Given the description of an element on the screen output the (x, y) to click on. 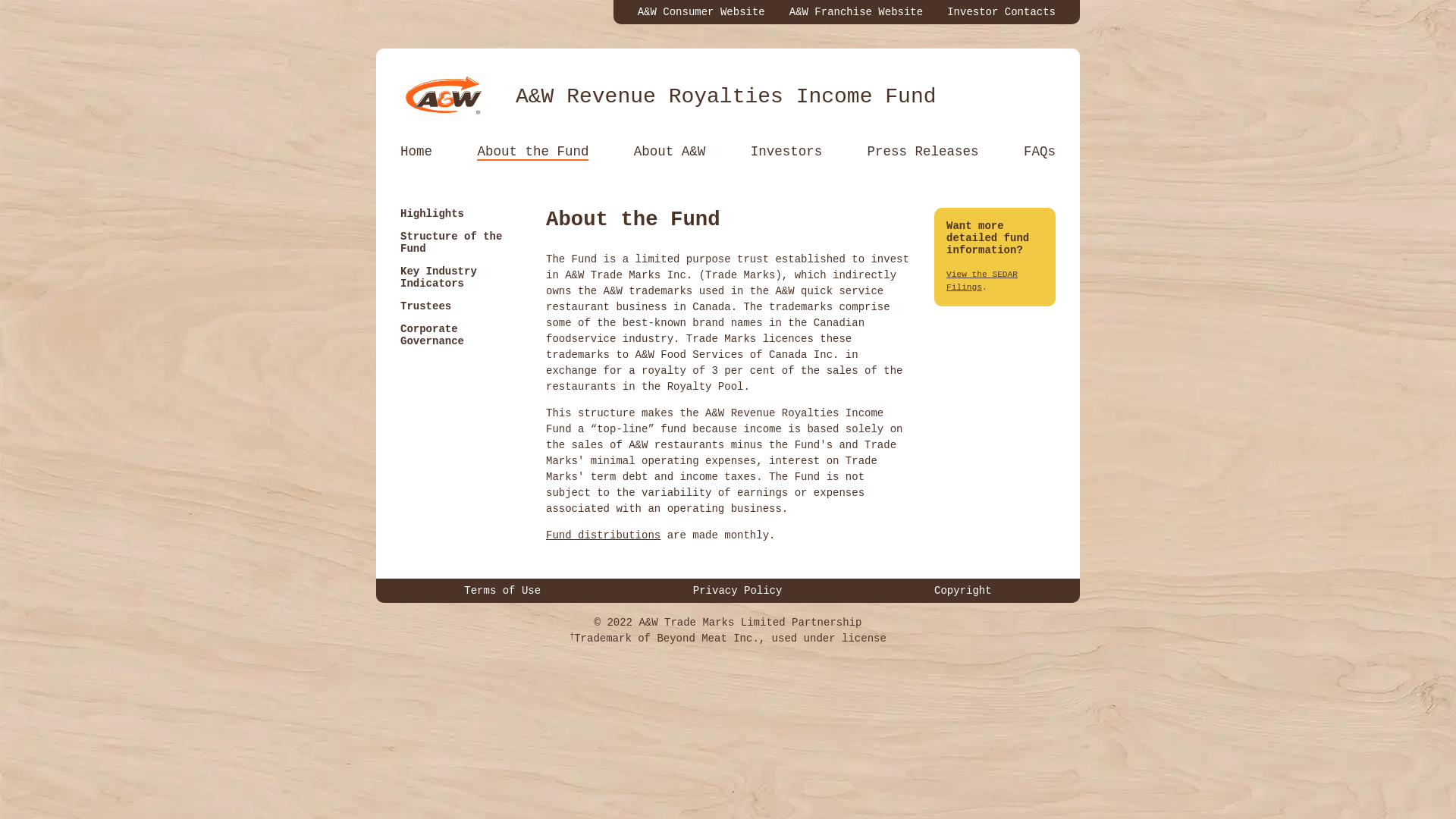
Copyright Element type: text (962, 590)
Highlights Element type: text (432, 213)
Trustees Element type: text (425, 306)
Fund distributions Element type: text (603, 535)
Investors Element type: text (786, 152)
A&W Franchise Website Element type: text (855, 12)
Home Element type: text (416, 152)
A&W Consumer Website Element type: text (701, 12)
About the Fund Element type: text (532, 152)
Key Industry Indicators Element type: text (438, 277)
About A&W Element type: text (669, 152)
Corporate Governance Element type: text (432, 335)
View the SEDAR Filings Element type: text (981, 280)
Privacy Policy Element type: text (737, 590)
Structure of the Fund Element type: text (451, 242)
Investor Contacts Element type: text (1001, 12)
Press Releases Element type: text (923, 152)
FAQs Element type: text (1039, 152)
Terms of Use Element type: text (502, 590)
